Given the description of an element on the screen output the (x, y) to click on. 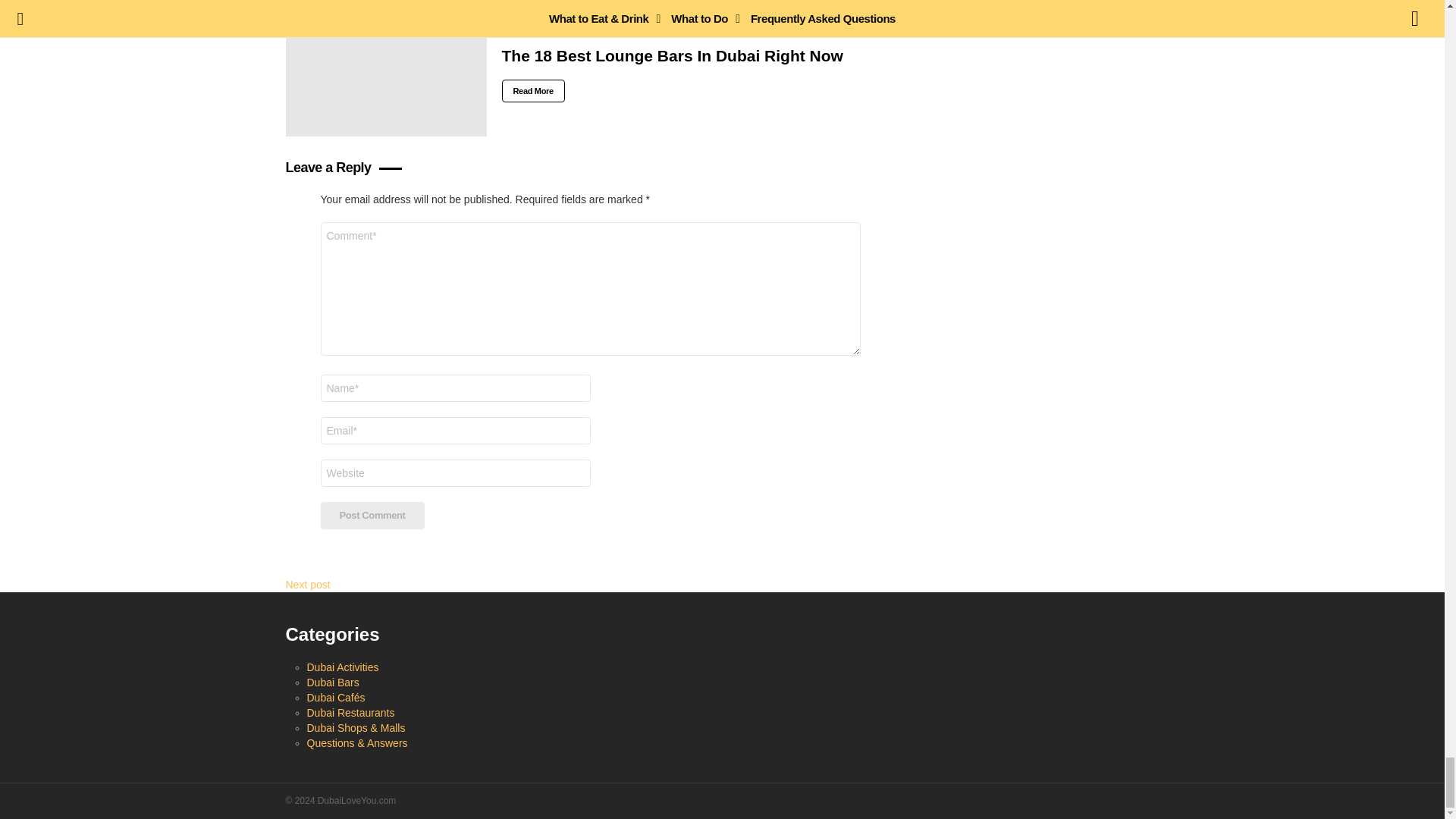
Post Comment (371, 515)
